Given the description of an element on the screen output the (x, y) to click on. 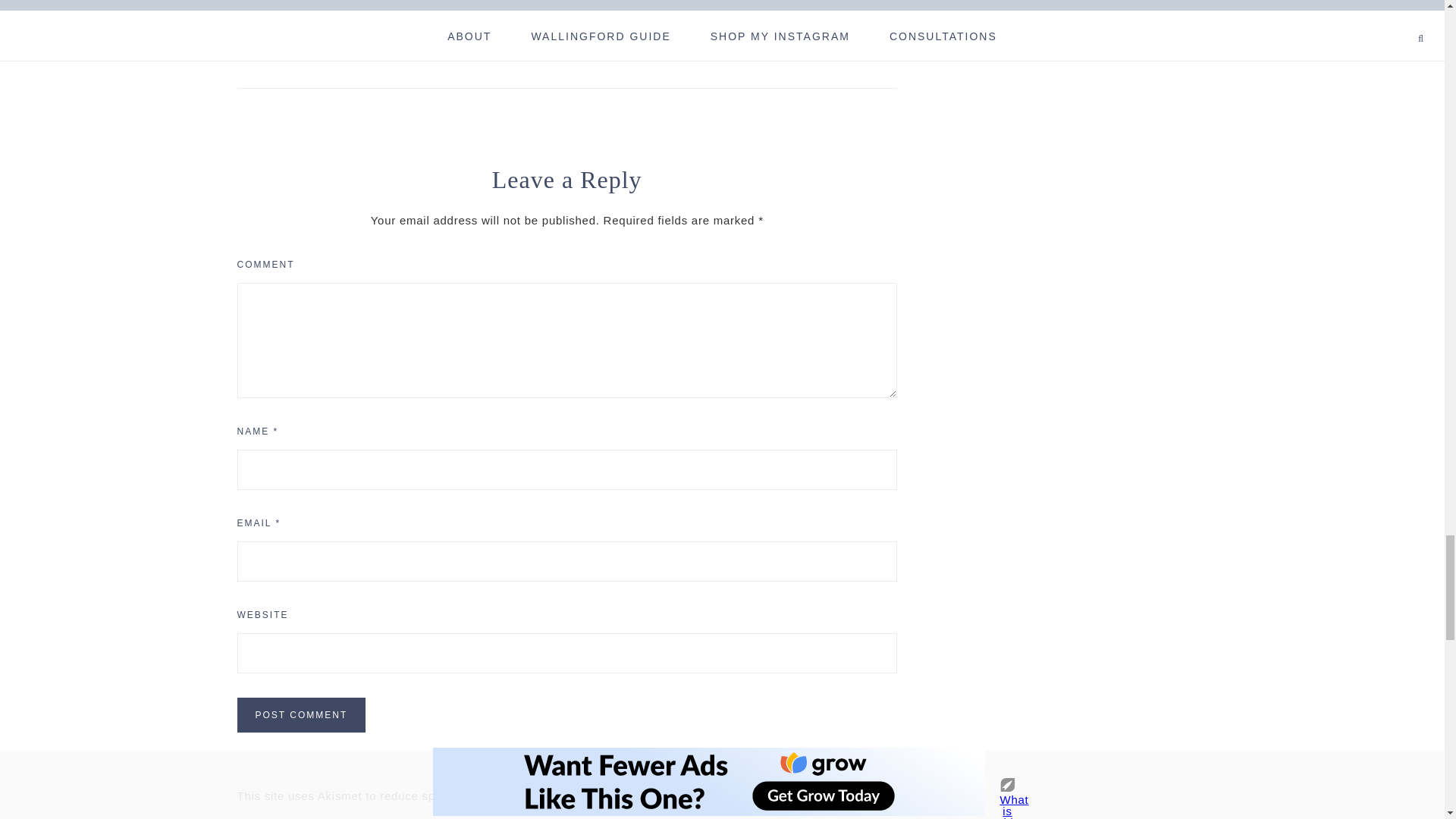
Post Comment (300, 714)
